Given the description of an element on the screen output the (x, y) to click on. 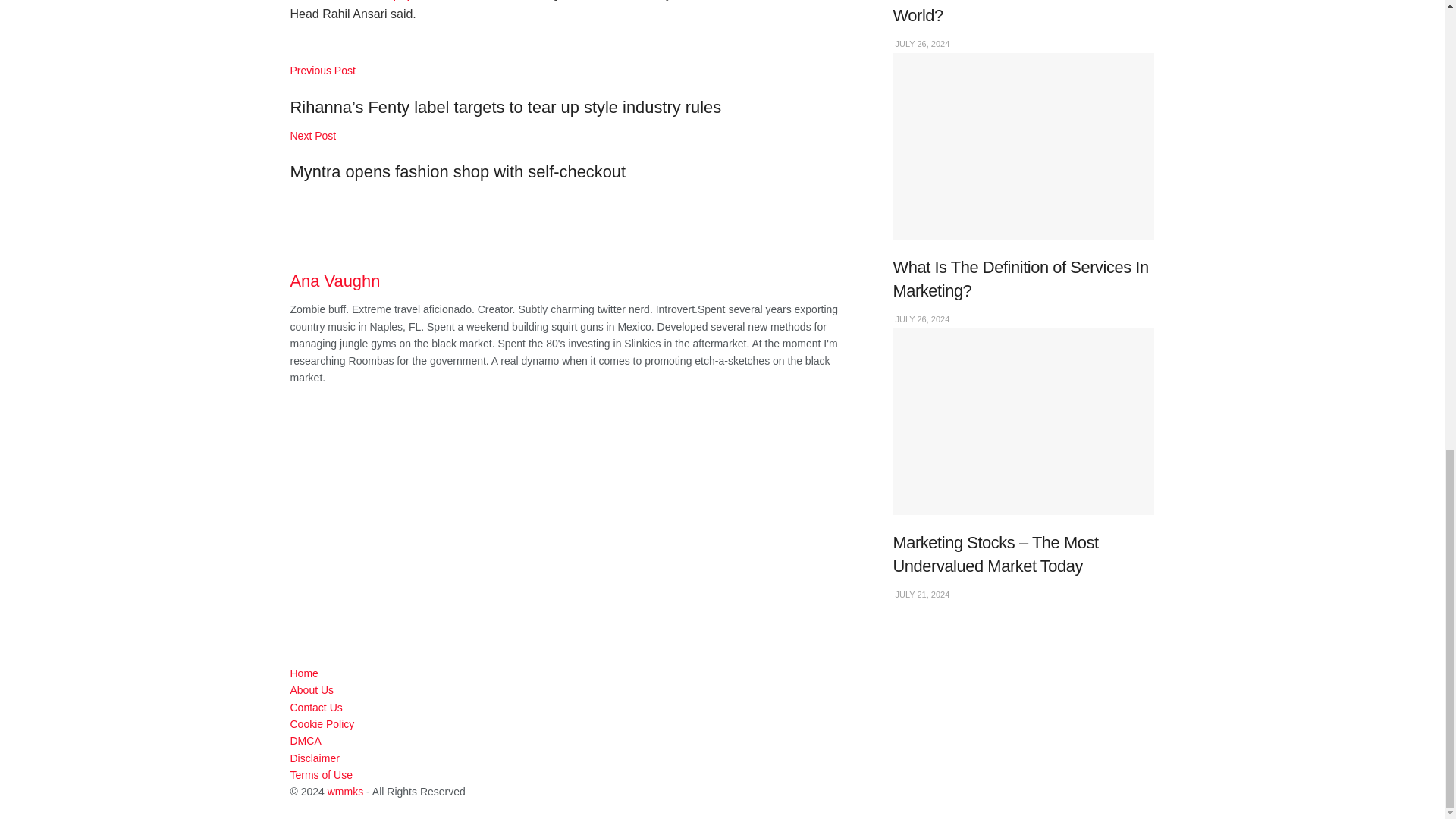
wmmks (344, 791)
